Given the description of an element on the screen output the (x, y) to click on. 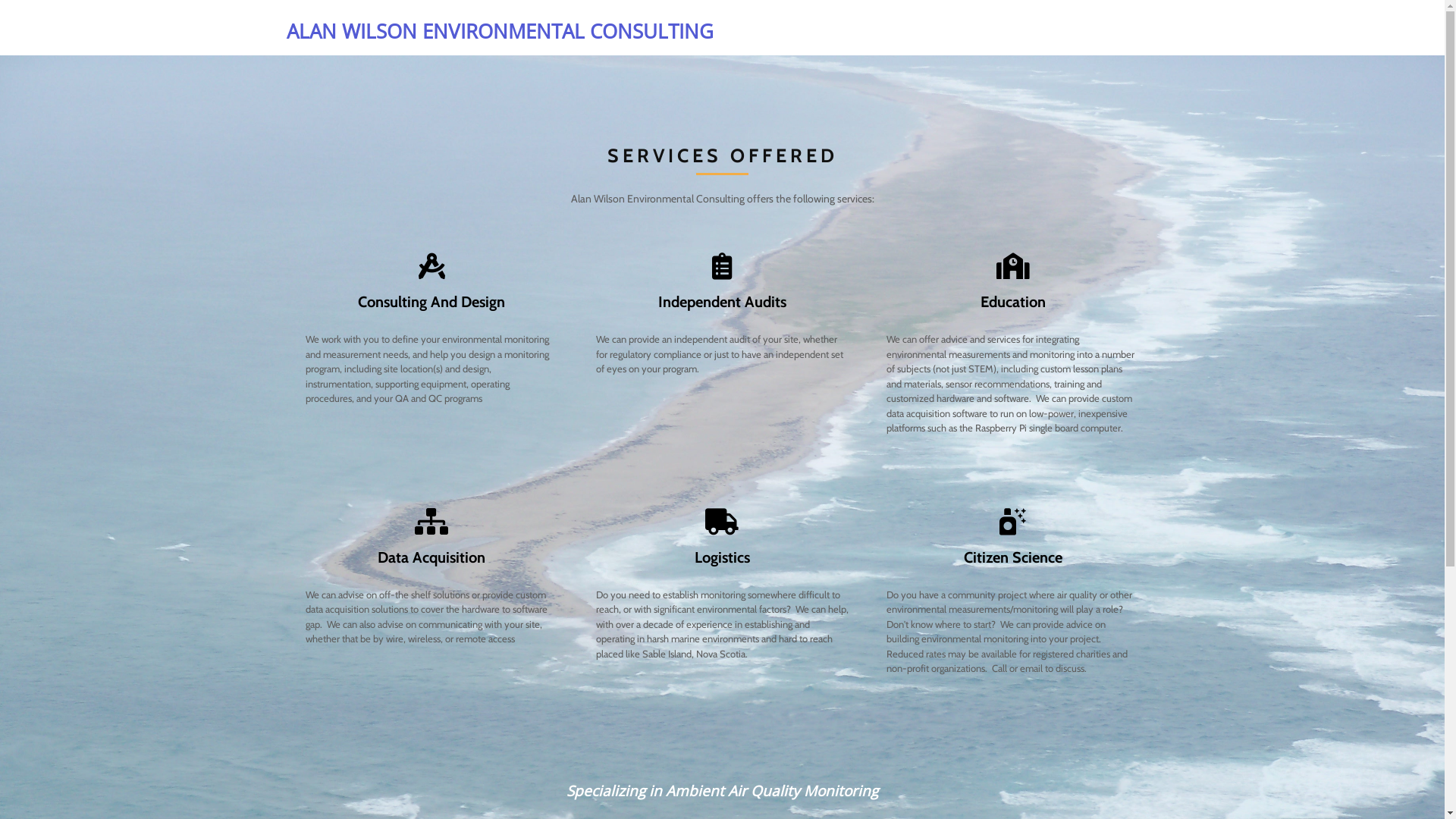
ALAN WILSON ENVIRONMENTAL CONSULTING Element type: text (500, 31)
